Given the description of an element on the screen output the (x, y) to click on. 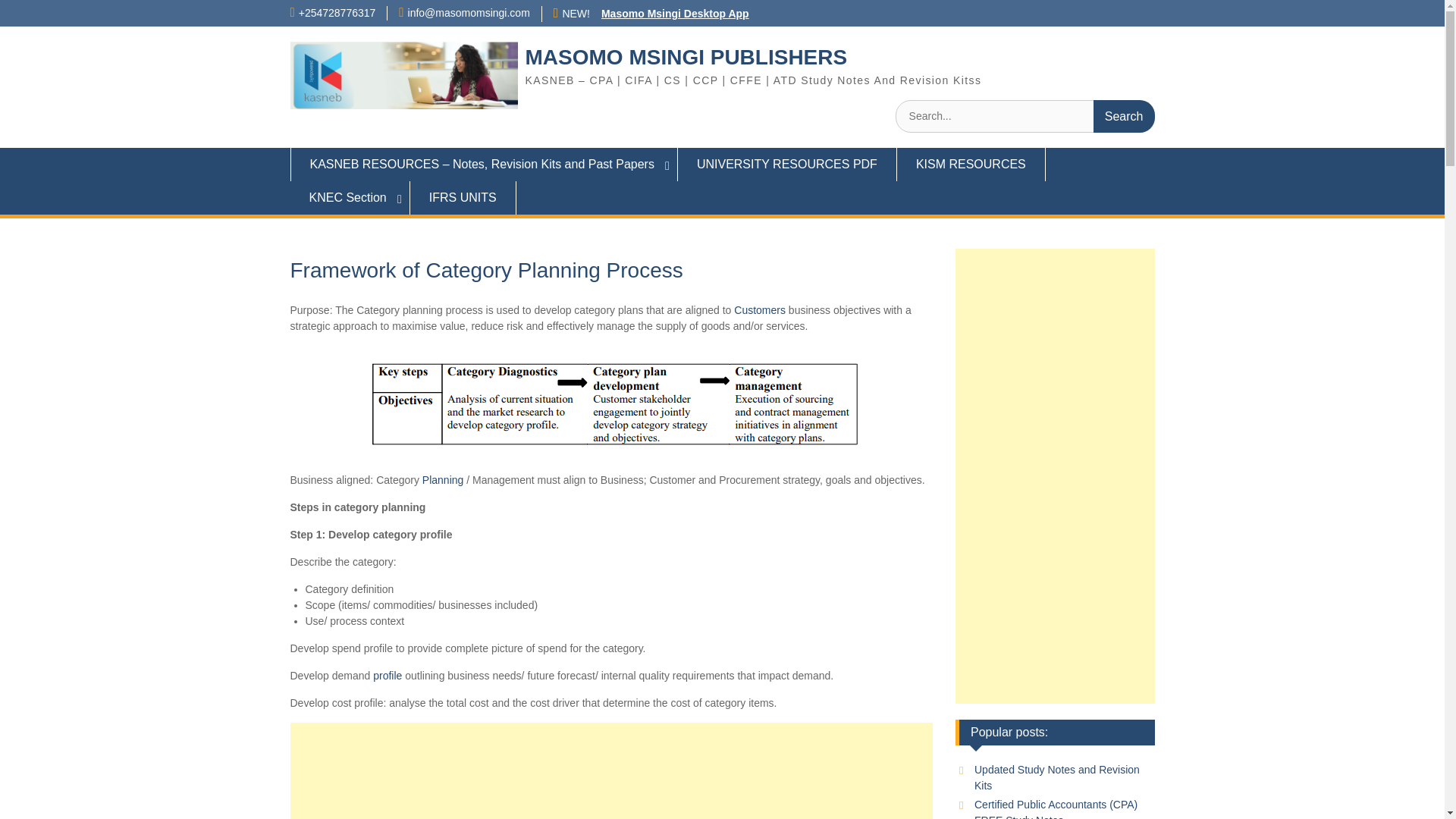
Search (1123, 115)
Search for: (1024, 115)
Search (1123, 115)
profile (386, 675)
Advertisement (611, 770)
KNEC Section (349, 197)
UNIVERSITY RESOURCES PDF (787, 164)
KISM RESOURCES (970, 164)
MASOMO MSINGI PUBLISHERS (685, 56)
Planning (443, 480)
